Given the description of an element on the screen output the (x, y) to click on. 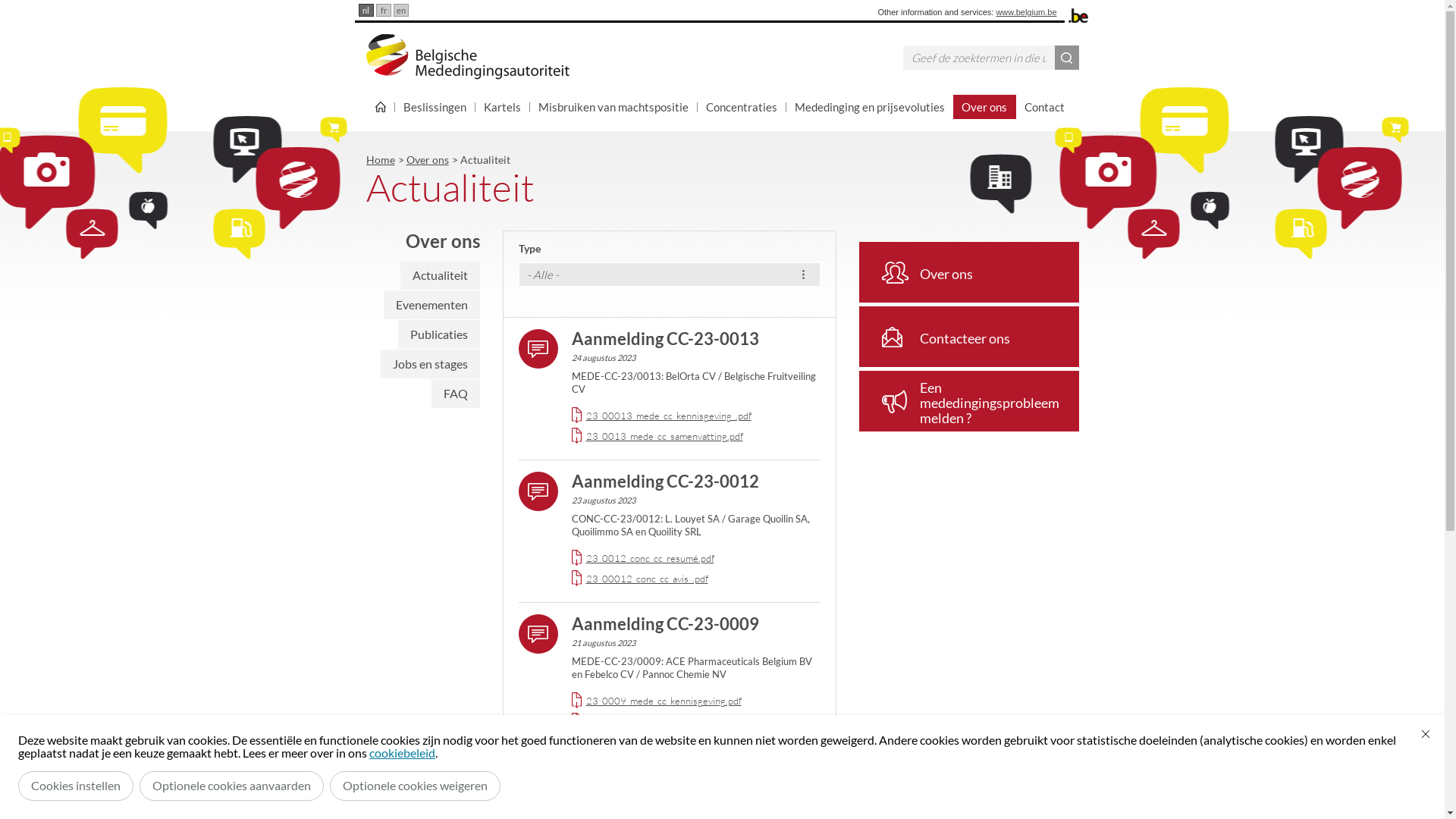
Optionele cookies weigeren Element type: text (414, 785)
Contact Element type: text (1044, 106)
cookiebeleid Element type: text (402, 752)
Concentraties Element type: text (741, 106)
Sluiten Element type: hover (1425, 733)
Over ons Element type: text (968, 271)
Misbruiken van machtspositie Element type: text (612, 106)
Een mededingingsprobleem melden ? Element type: text (968, 400)
nl Element type: text (365, 9)
Evenementen Element type: text (431, 304)
www.belgium.be Element type: text (1025, 11)
FAQ Element type: text (454, 393)
Home Element type: text (379, 106)
Aanmelding CC-23-0013 Element type: text (665, 338)
Actualiteit Element type: text (440, 274)
Over ons Element type: text (427, 159)
Home Element type: text (379, 159)
Optionele cookies aanvaarden Element type: text (231, 785)
Over ons Element type: text (983, 106)
Aanmelding CC-23-0012 Element type: text (665, 480)
23_0009_mede_cc_samenvatting.pdf Element type: text (663, 721)
23_00013_mede_cc_kennisgeving_.pdf Element type: text (667, 415)
23_0009_mede_cc_kennisgeving.pdf Element type: text (662, 700)
en Element type: text (399, 9)
23_0013_mede_cc_samenvatting.pdf Element type: text (663, 435)
Aanmelding CC-23-0009 Element type: text (665, 623)
Filter Element type: text (32, 12)
fr Element type: text (383, 9)
Kartels Element type: text (501, 106)
Persbericht nr. 36 - 2023 Element type: text (664, 766)
Mededinging en prijsevoluties Element type: text (869, 106)
23_00012_conc_cc_avis_.pdf Element type: text (646, 578)
Overslaan en naar de inhoud gaan Element type: text (0, 0)
Jobs en stages Element type: text (430, 363)
Contacteer ons Element type: text (968, 336)
Cookies instellen Element type: text (75, 785)
Search Element type: text (1066, 57)
Publicaties Element type: text (438, 334)
Beslissingen Element type: text (434, 106)
Back to the homepage Element type: hover (466, 56)
